Given the description of an element on the screen output the (x, y) to click on. 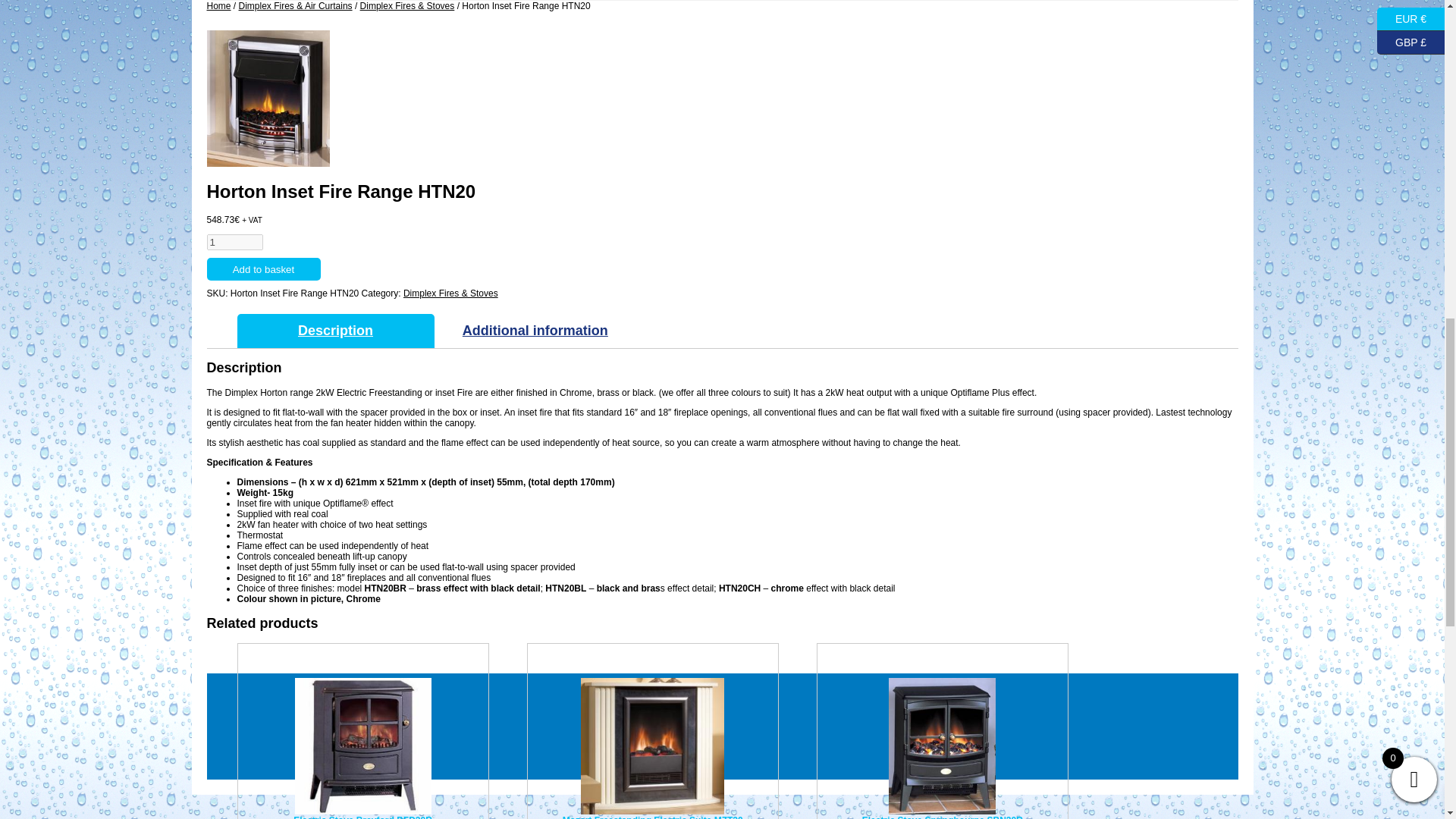
Home (218, 5)
Additional information (535, 330)
Description (335, 330)
1 (234, 242)
Add to basket (263, 268)
